Given the description of an element on the screen output the (x, y) to click on. 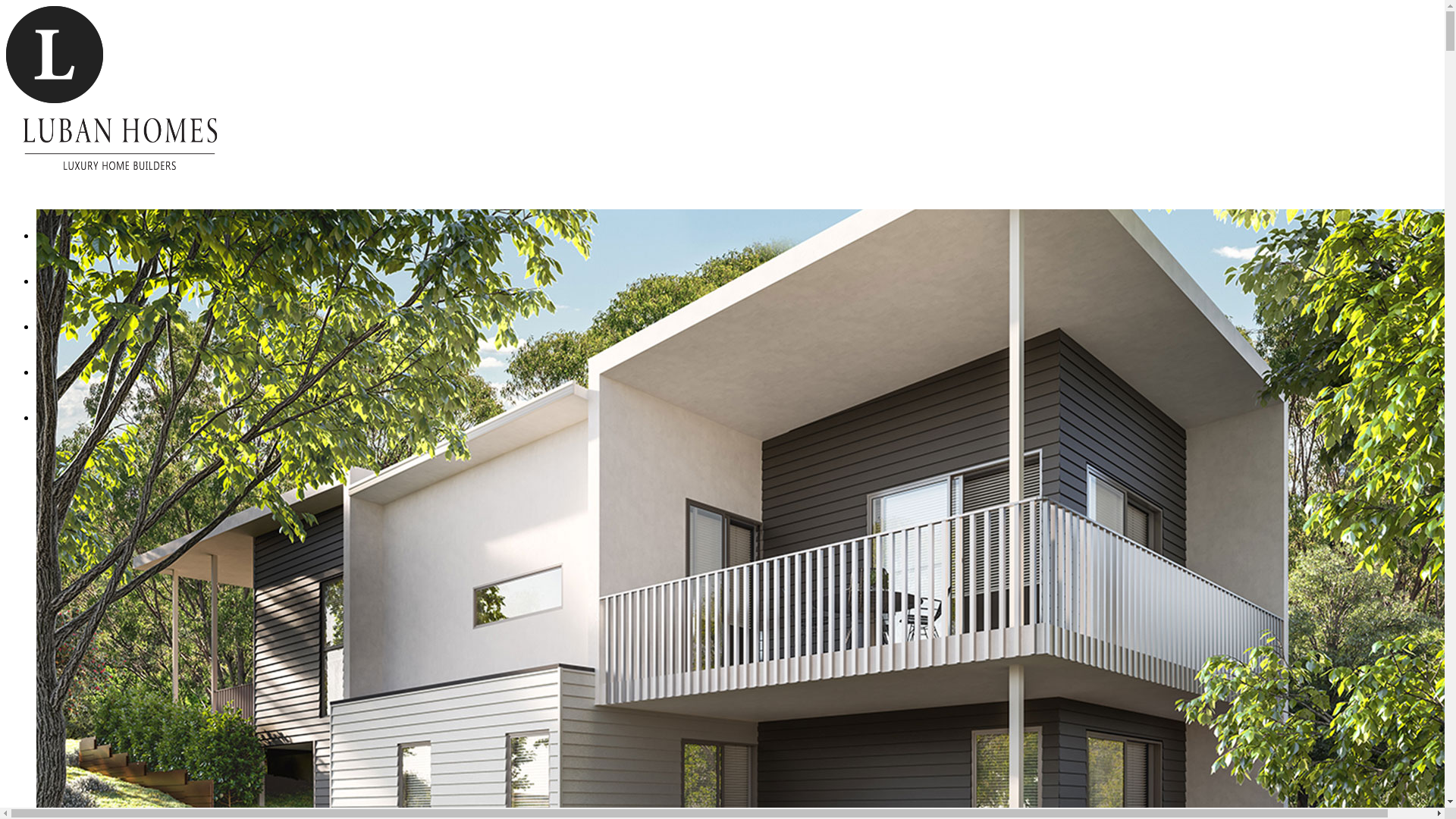
Contact Element type: text (55, 371)
Menu Menu Element type: text (66, 417)
Loading Element type: hover (54, 54)
Projects Element type: text (55, 326)
Home Element type: text (50, 235)
About Element type: text (51, 280)
